Given the description of an element on the screen output the (x, y) to click on. 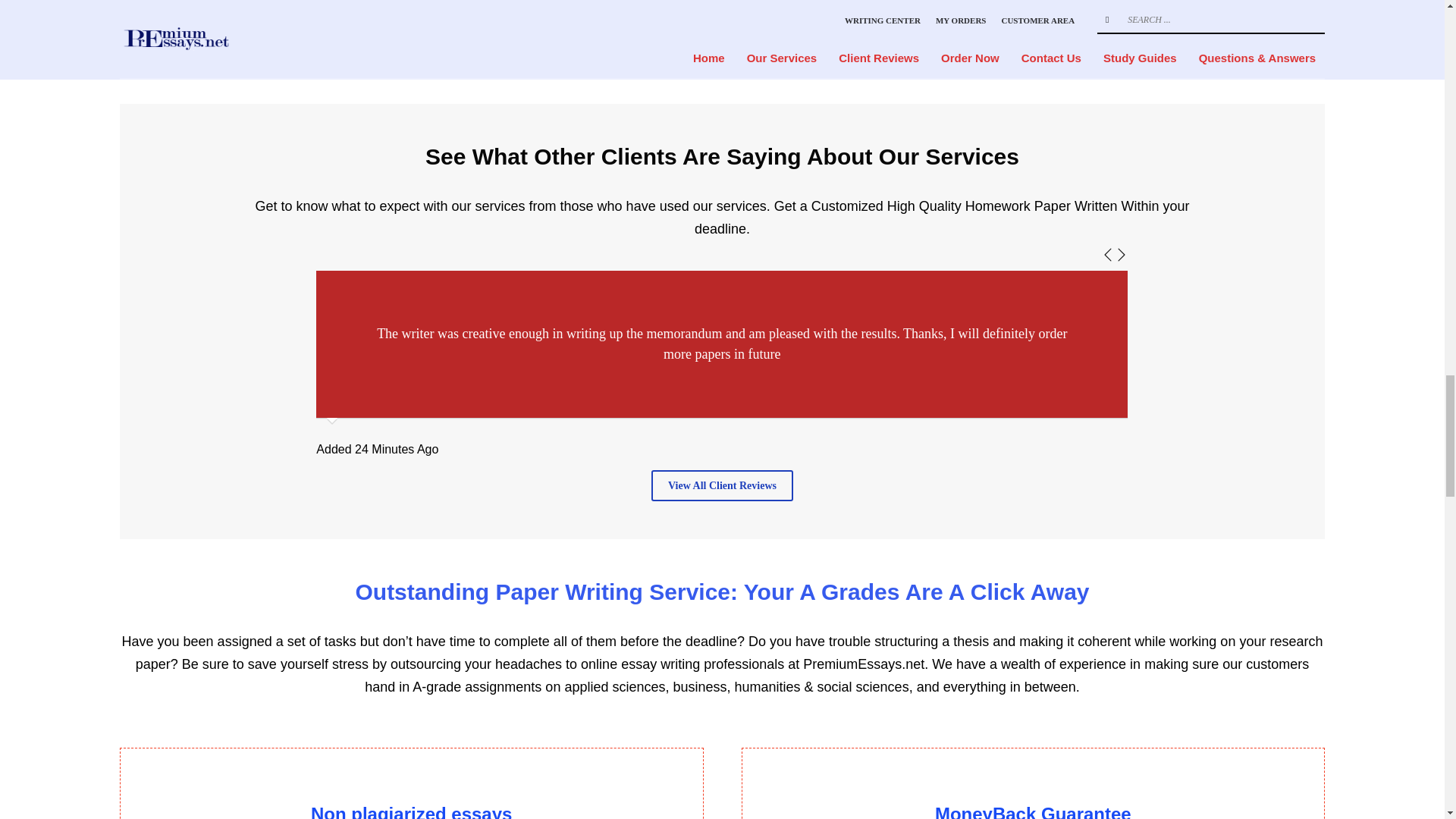
spirit and greater determination (626, 269)
